Given the description of an element on the screen output the (x, y) to click on. 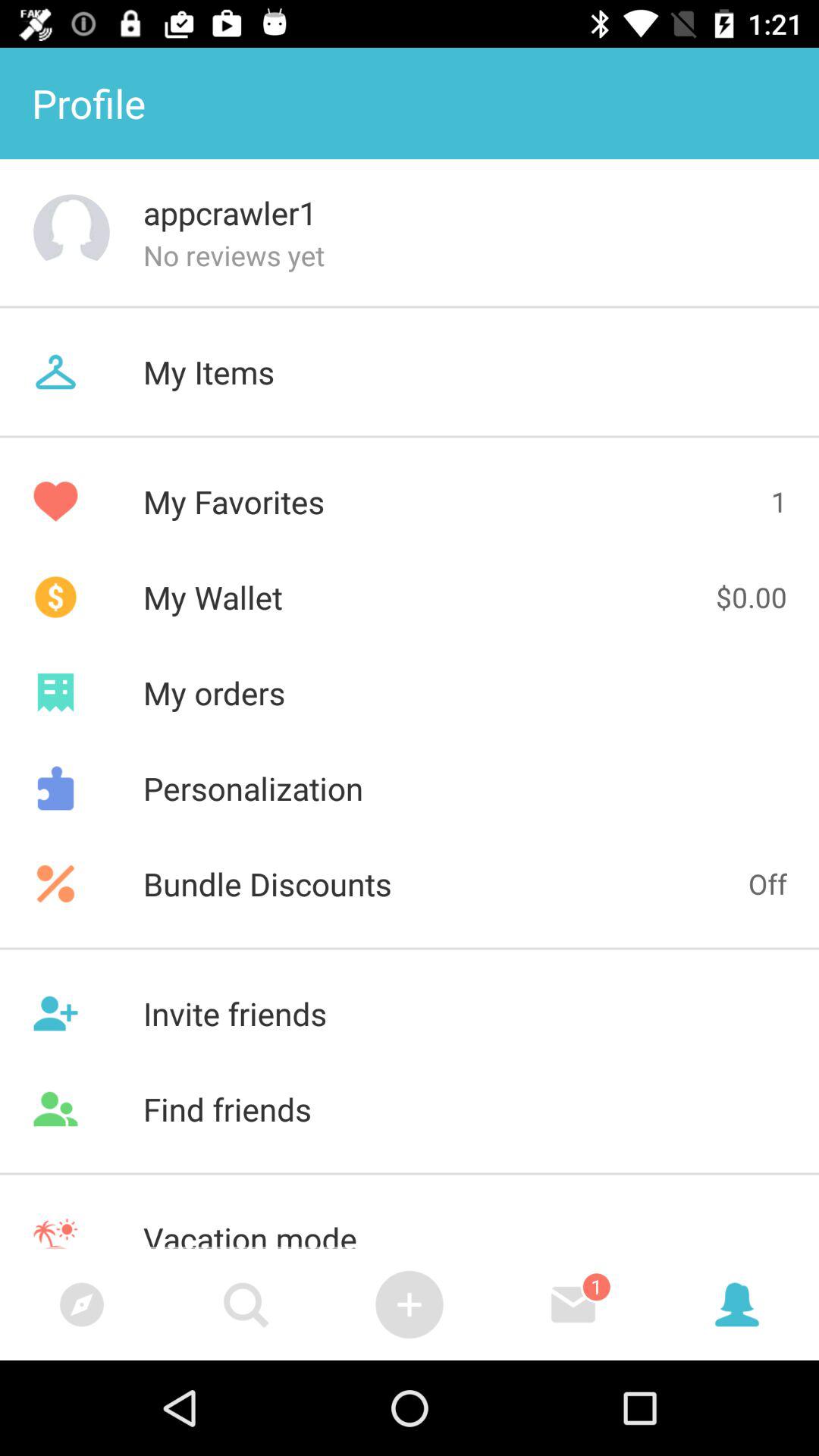
tap item above bundle discounts icon (409, 788)
